Given the description of an element on the screen output the (x, y) to click on. 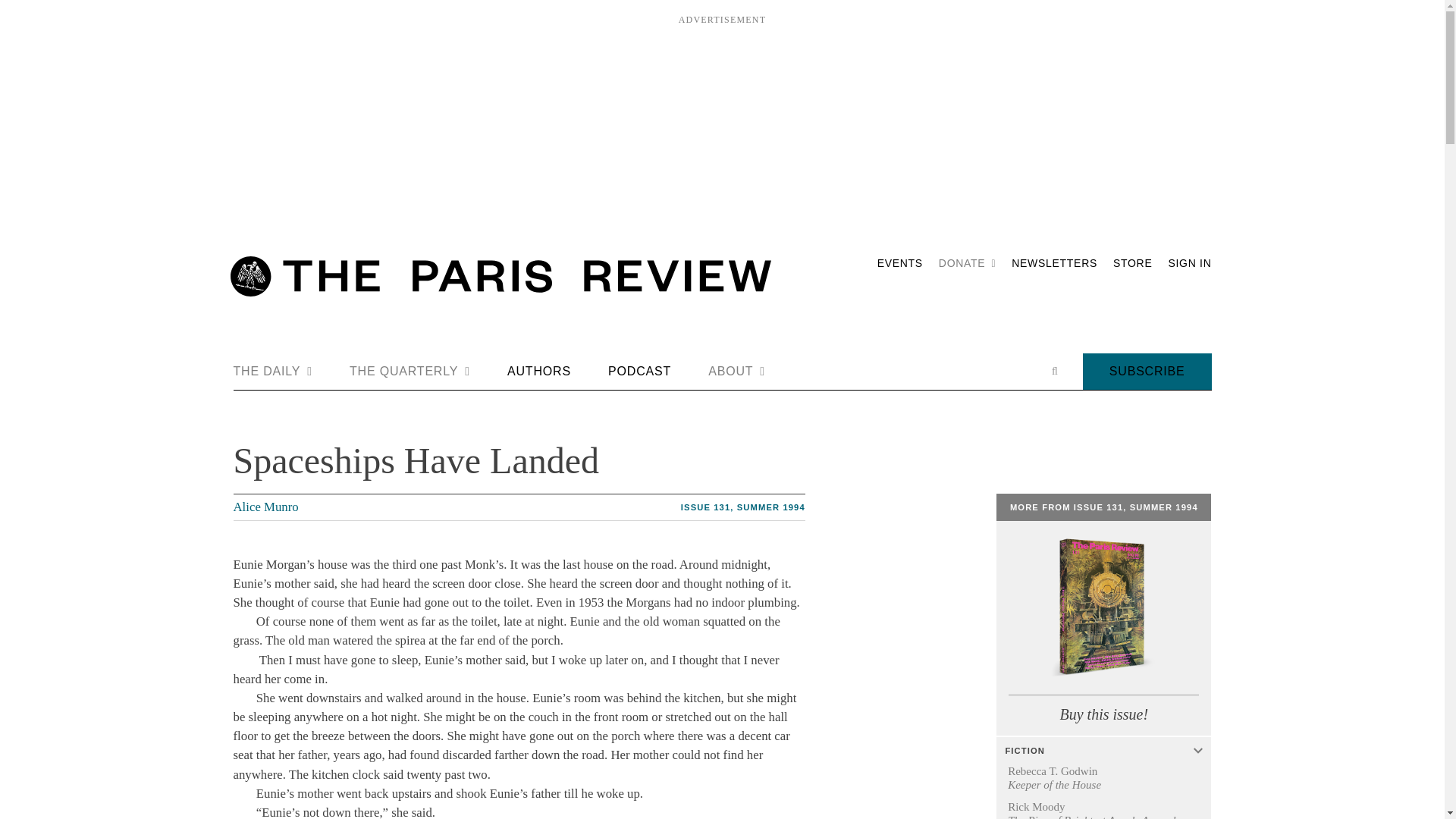
Open search (1054, 371)
THE DAILY (272, 371)
THE QUARTERLY (409, 371)
